Given the description of an element on the screen output the (x, y) to click on. 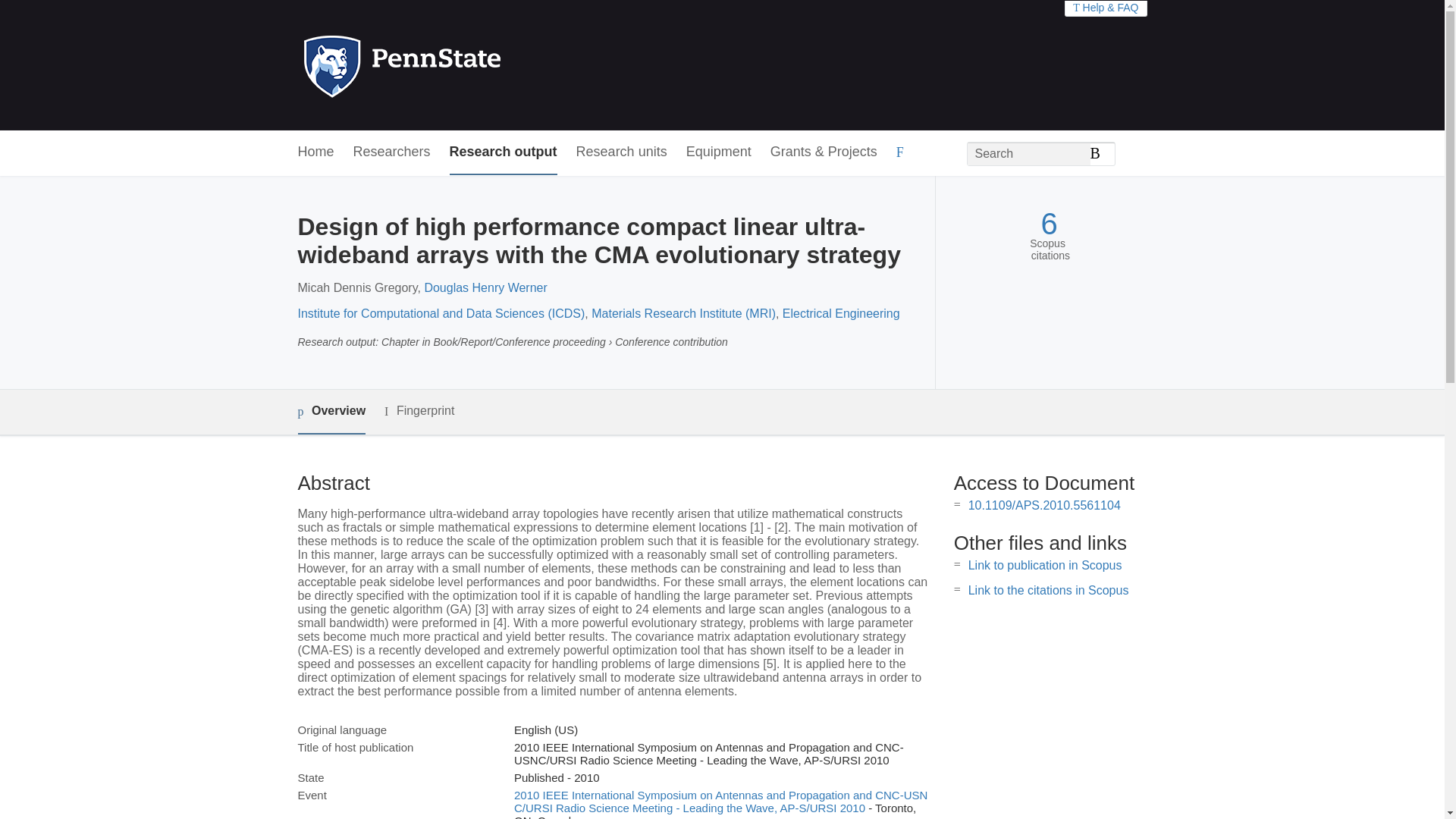
Link to publication in Scopus (1045, 564)
Electrical Engineering (841, 313)
Research units (621, 152)
Overview (331, 411)
Douglas Henry Werner (485, 287)
Researchers (391, 152)
Penn State Home (467, 65)
Link to the citations in Scopus (1048, 590)
Equipment (718, 152)
Research output (503, 152)
Fingerprint (419, 411)
